Given the description of an element on the screen output the (x, y) to click on. 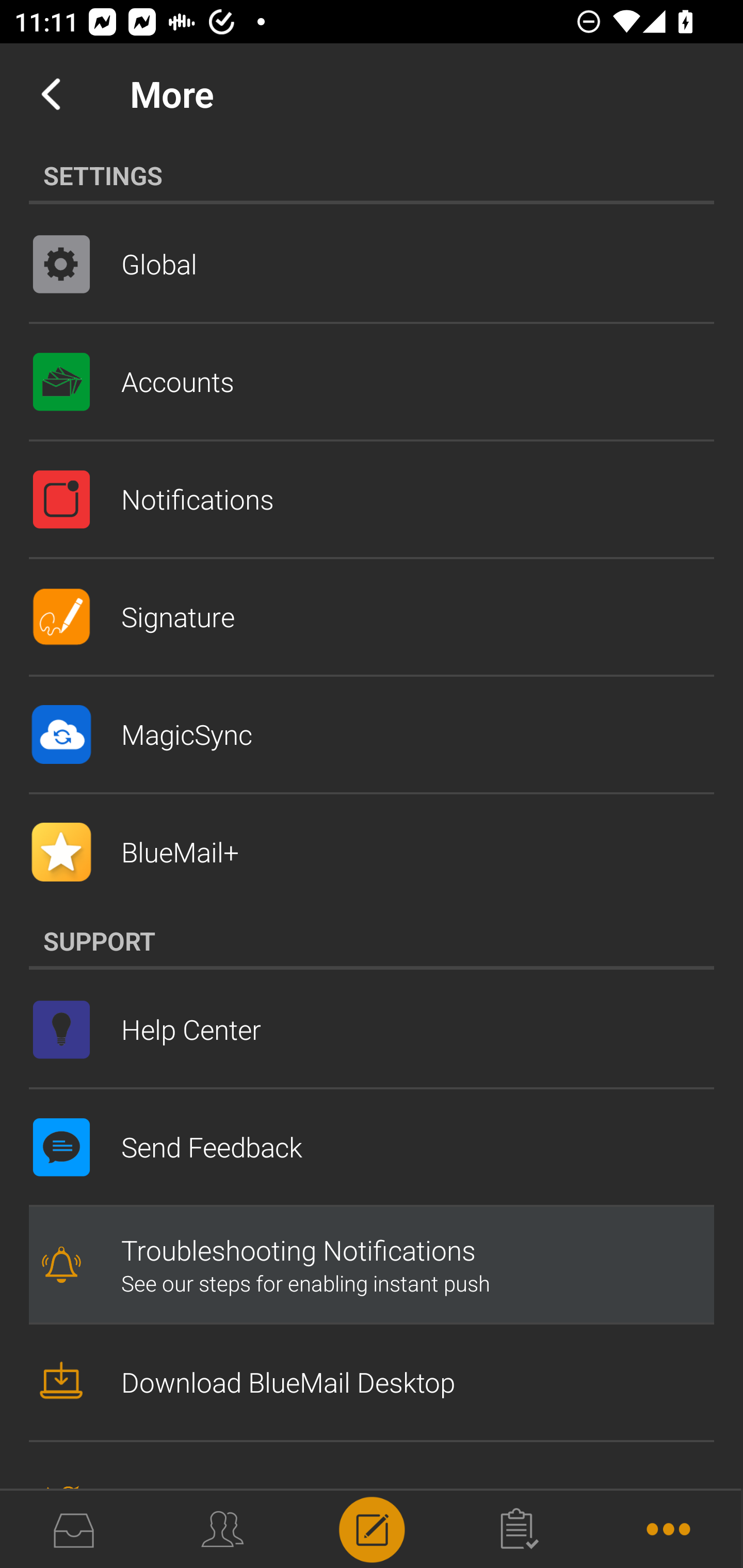
Navigate up (50, 93)
Global (371, 263)
Accounts (371, 381)
Notifications (371, 499)
Signature (371, 616)
MagicSync (371, 734)
BlueMail+ (371, 851)
Help Center (371, 1029)
Send Feedback (371, 1146)
Download BlueMail Desktop (371, 1381)
Compose (371, 1528)
